Given the description of an element on the screen output the (x, y) to click on. 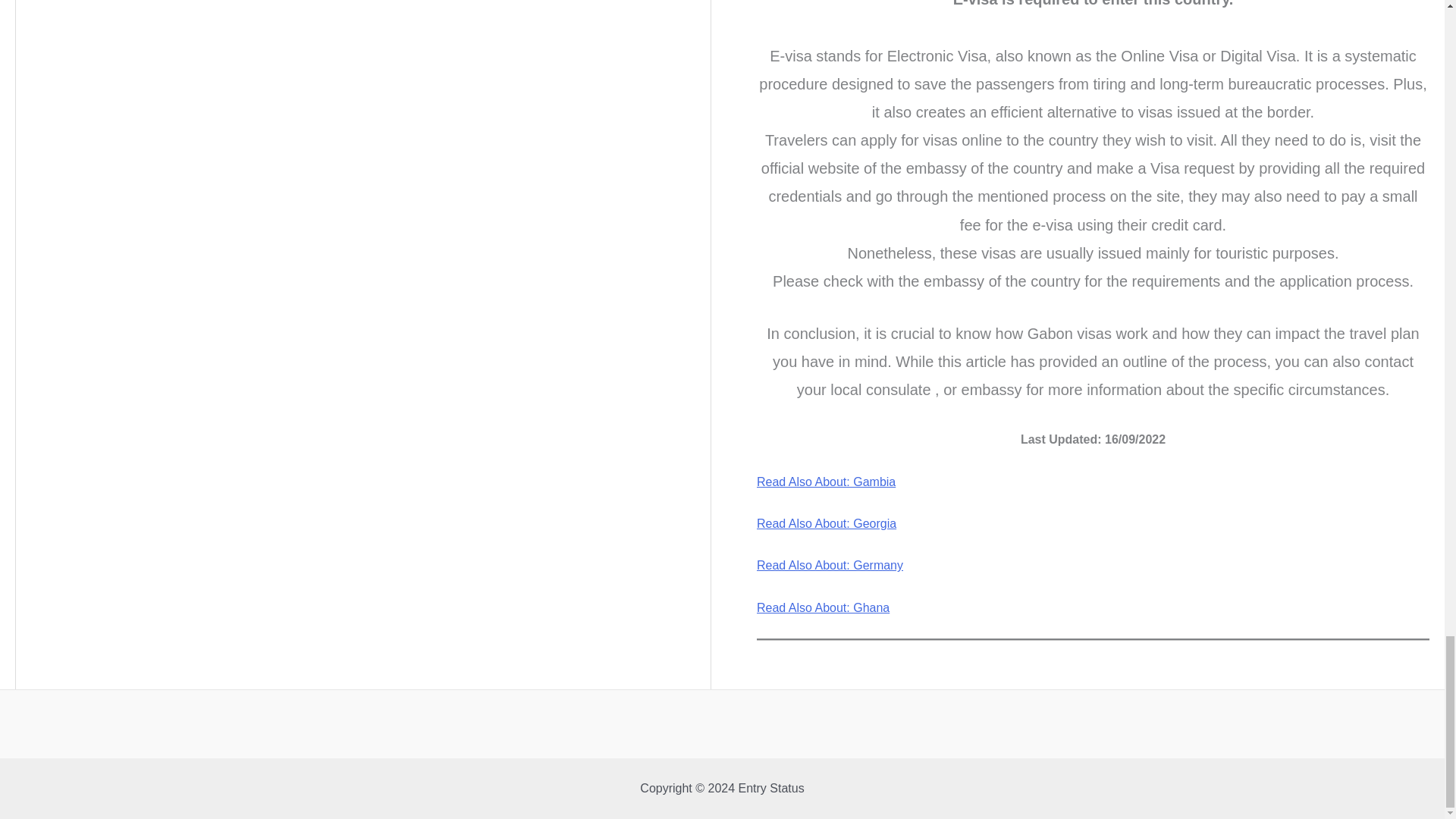
Read Also About: Ghana (823, 607)
Read Also About: Georgia (826, 522)
Read Also About: Gambia (826, 481)
Read Also About: Germany (829, 564)
